Given the description of an element on the screen output the (x, y) to click on. 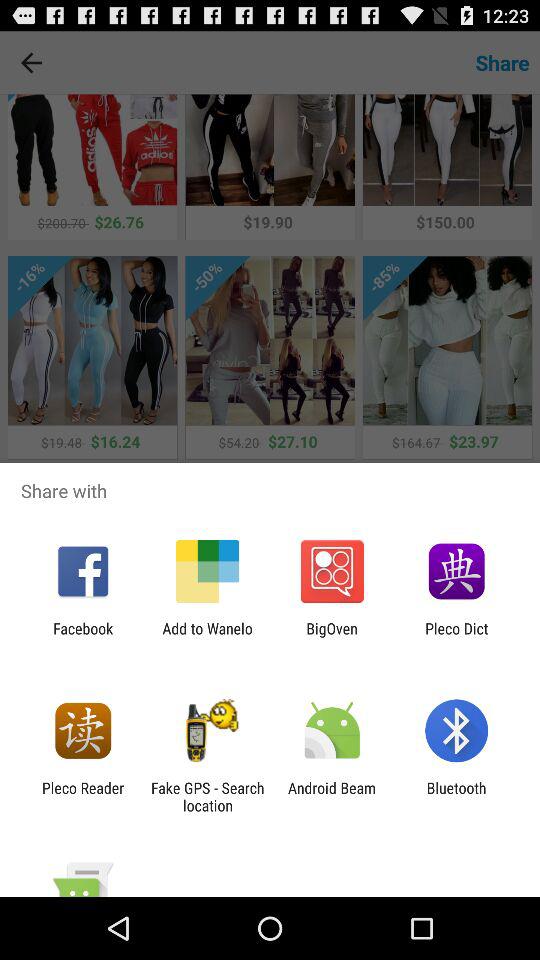
tap the pleco dict item (456, 637)
